Given the description of an element on the screen output the (x, y) to click on. 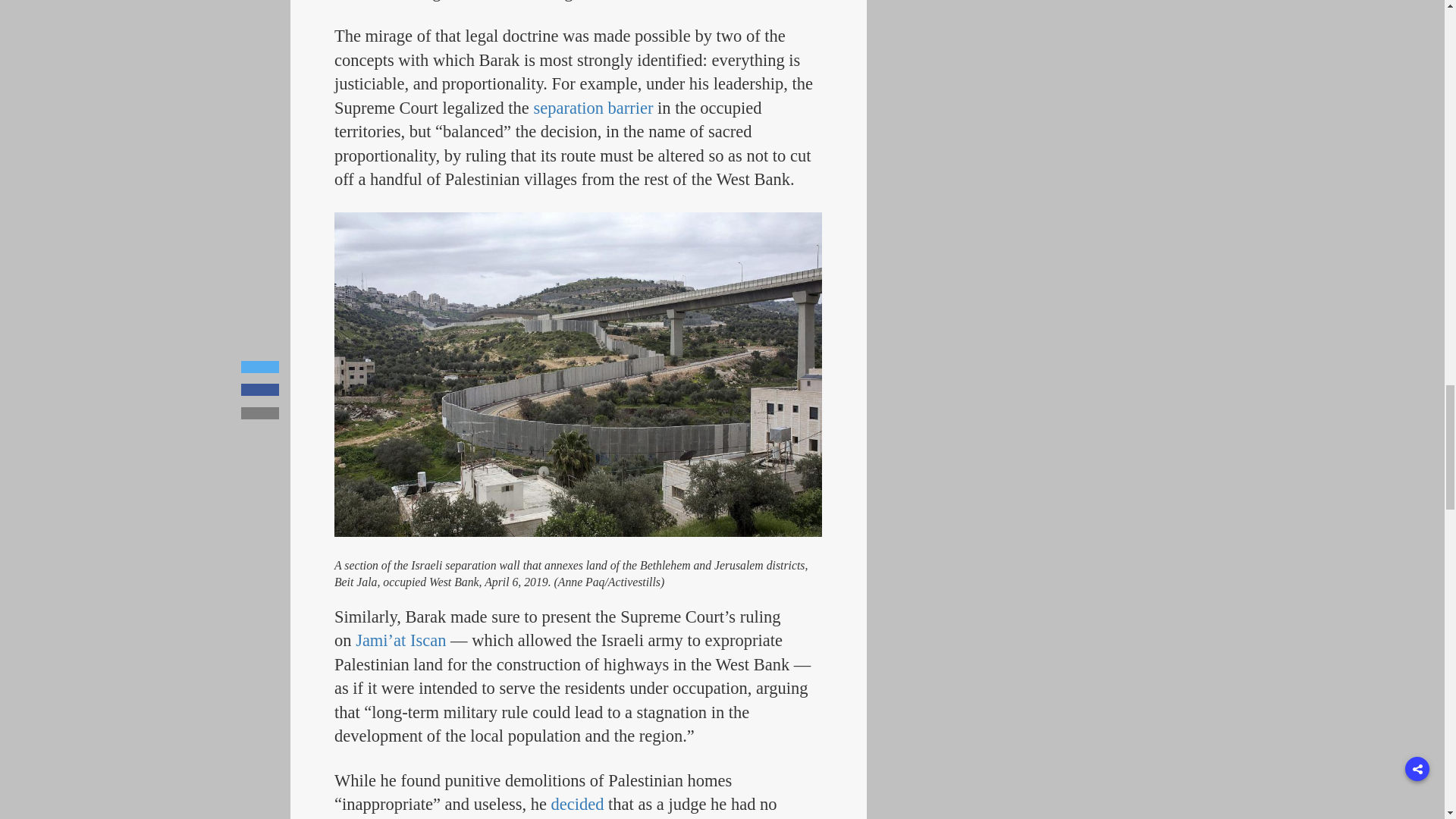
decided (577, 804)
separation barrier (592, 107)
